Given the description of an element on the screen output the (x, y) to click on. 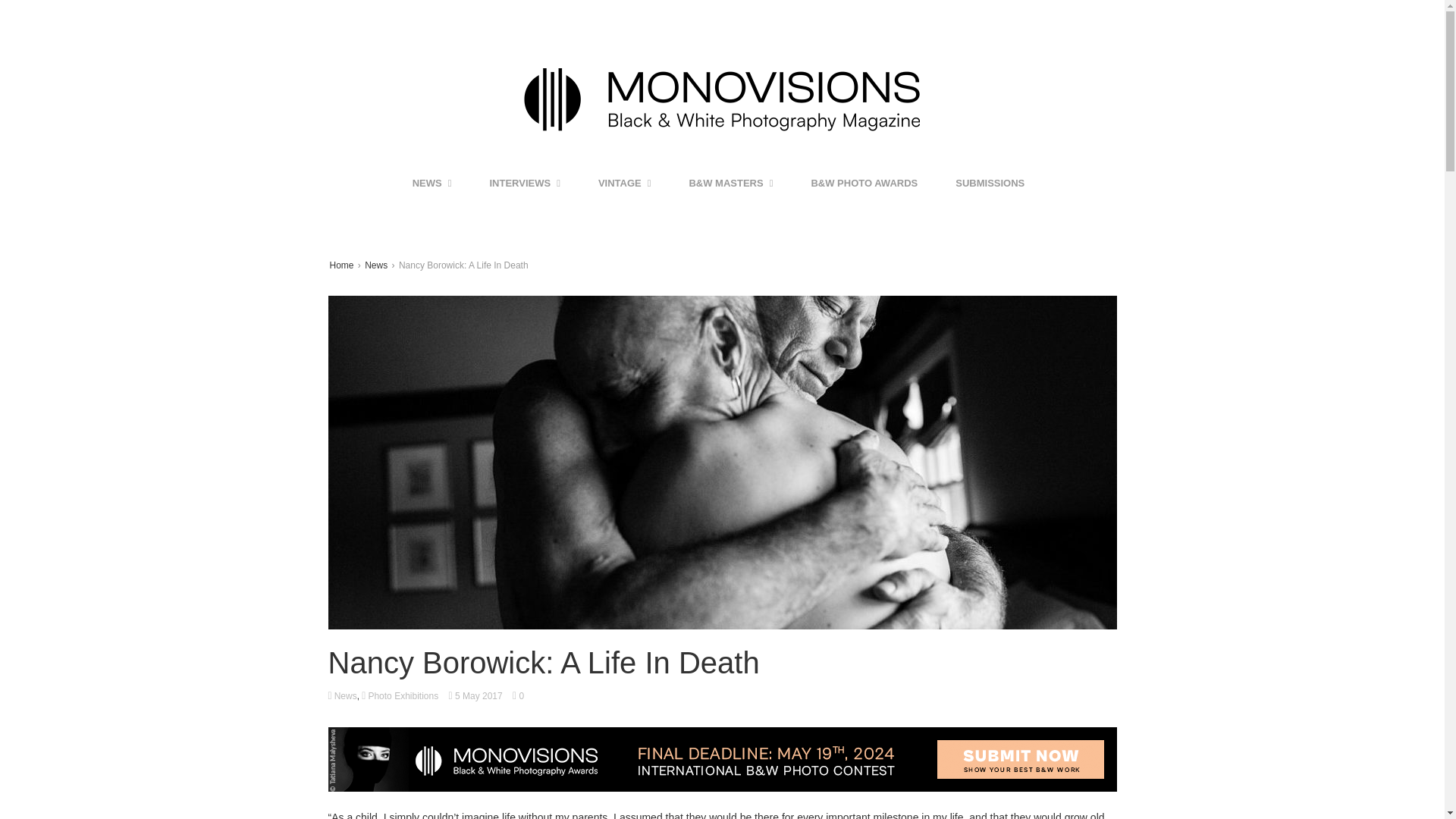
INTERVIEWS (524, 183)
VINTAGE (624, 183)
NEWS (432, 183)
